Given the description of an element on the screen output the (x, y) to click on. 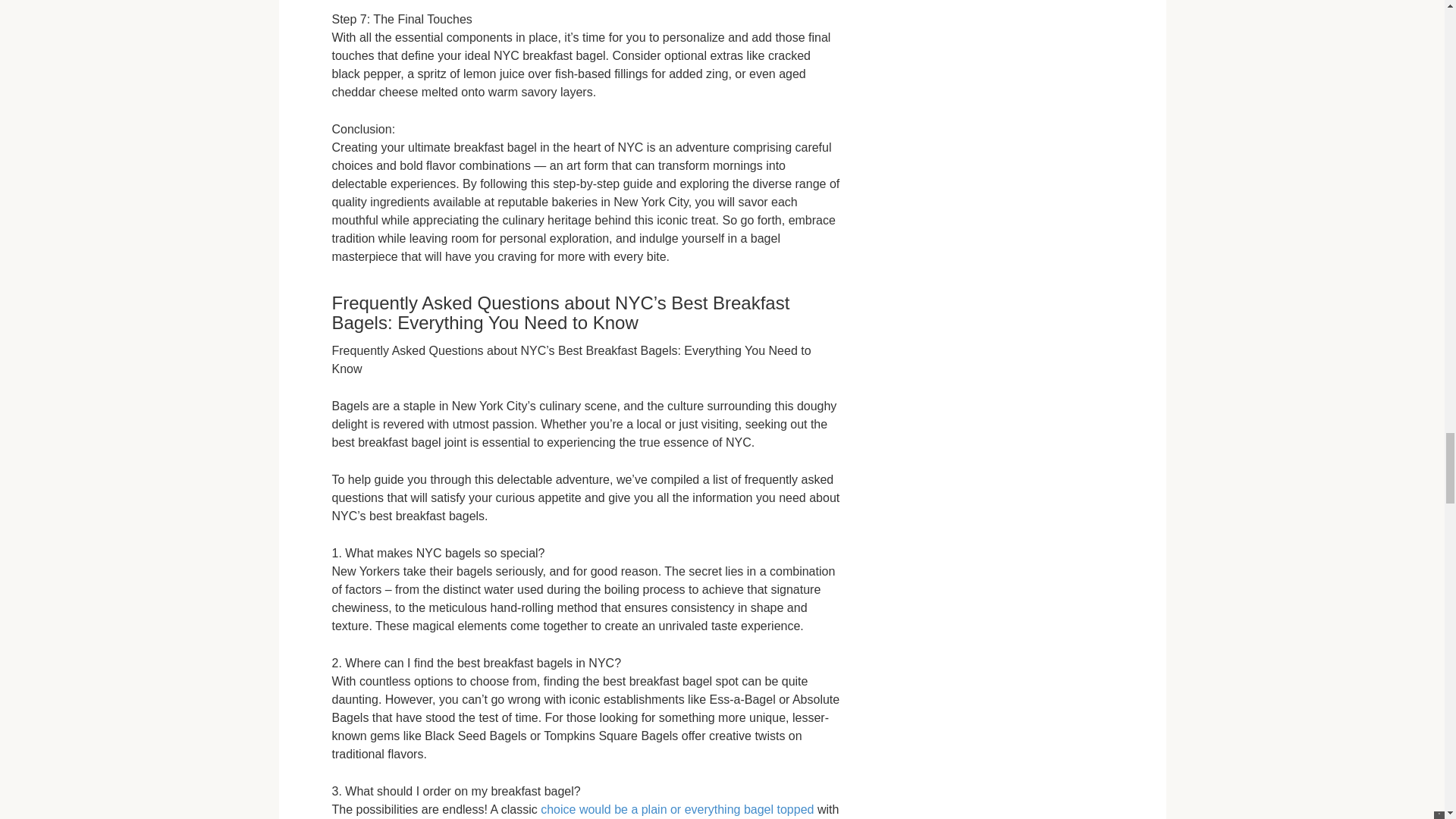
choice would be a plain or everything bagel topped (676, 809)
